Given the description of an element on the screen output the (x, y) to click on. 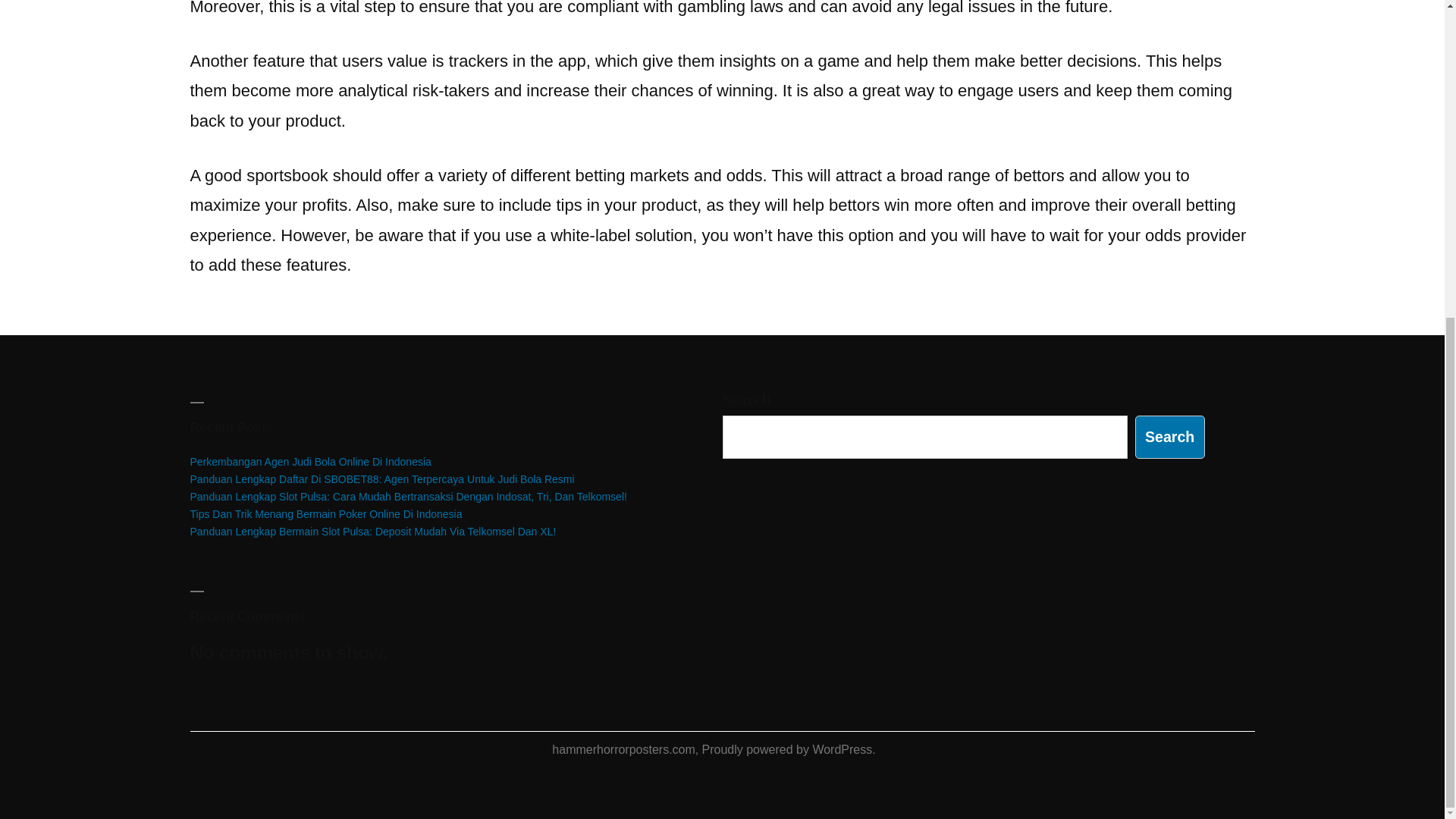
Tips Dan Trik Menang Bermain Poker Online Di Indonesia (325, 513)
hammerhorrorposters.com (623, 748)
Search (1170, 436)
Proudly powered by WordPress. (788, 748)
Perkembangan Agen Judi Bola Online Di Indonesia (309, 461)
